Given the description of an element on the screen output the (x, y) to click on. 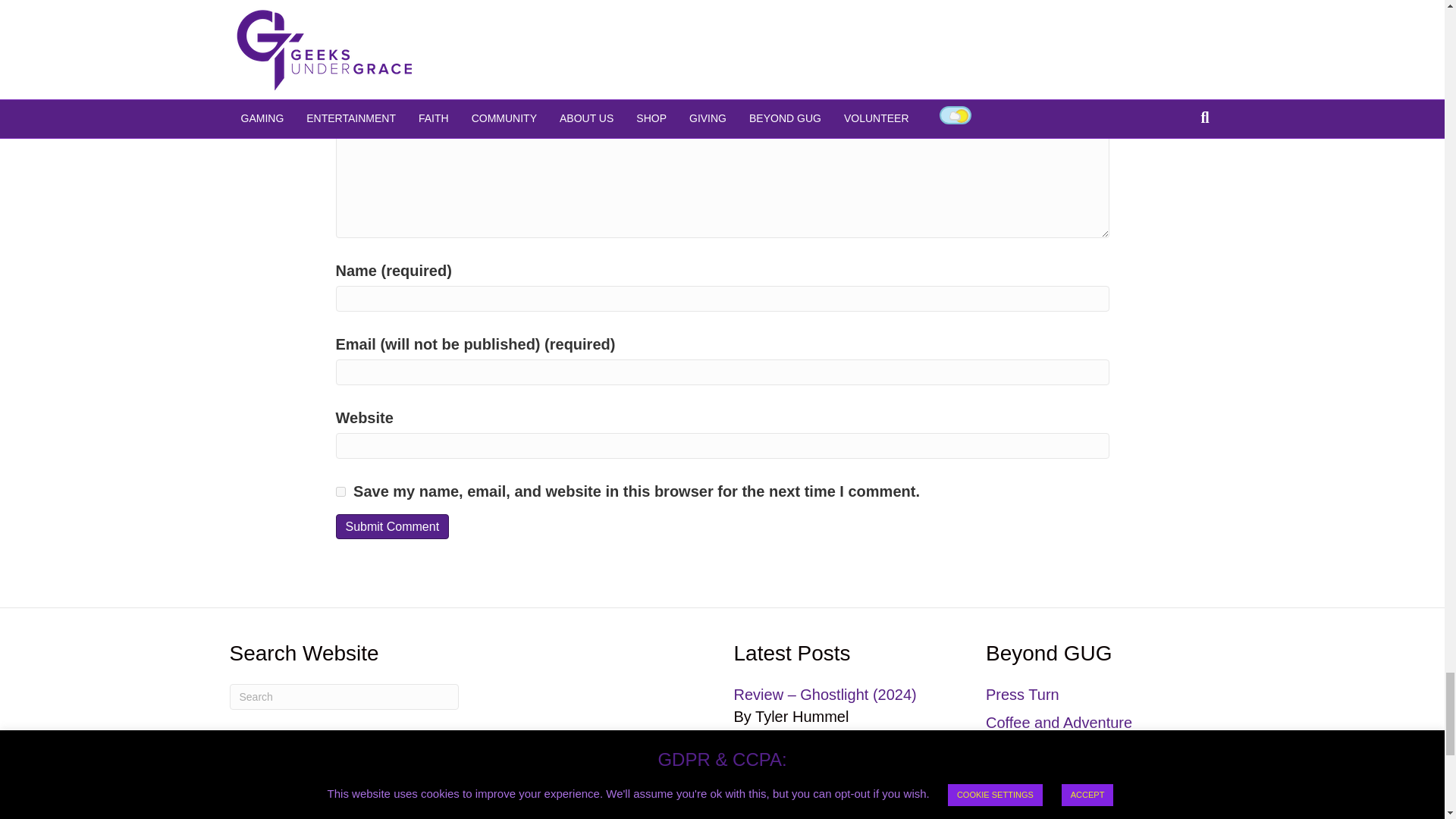
Type and press Enter to search. (343, 696)
yes (339, 491)
Submit Comment (391, 526)
